Given the description of an element on the screen output the (x, y) to click on. 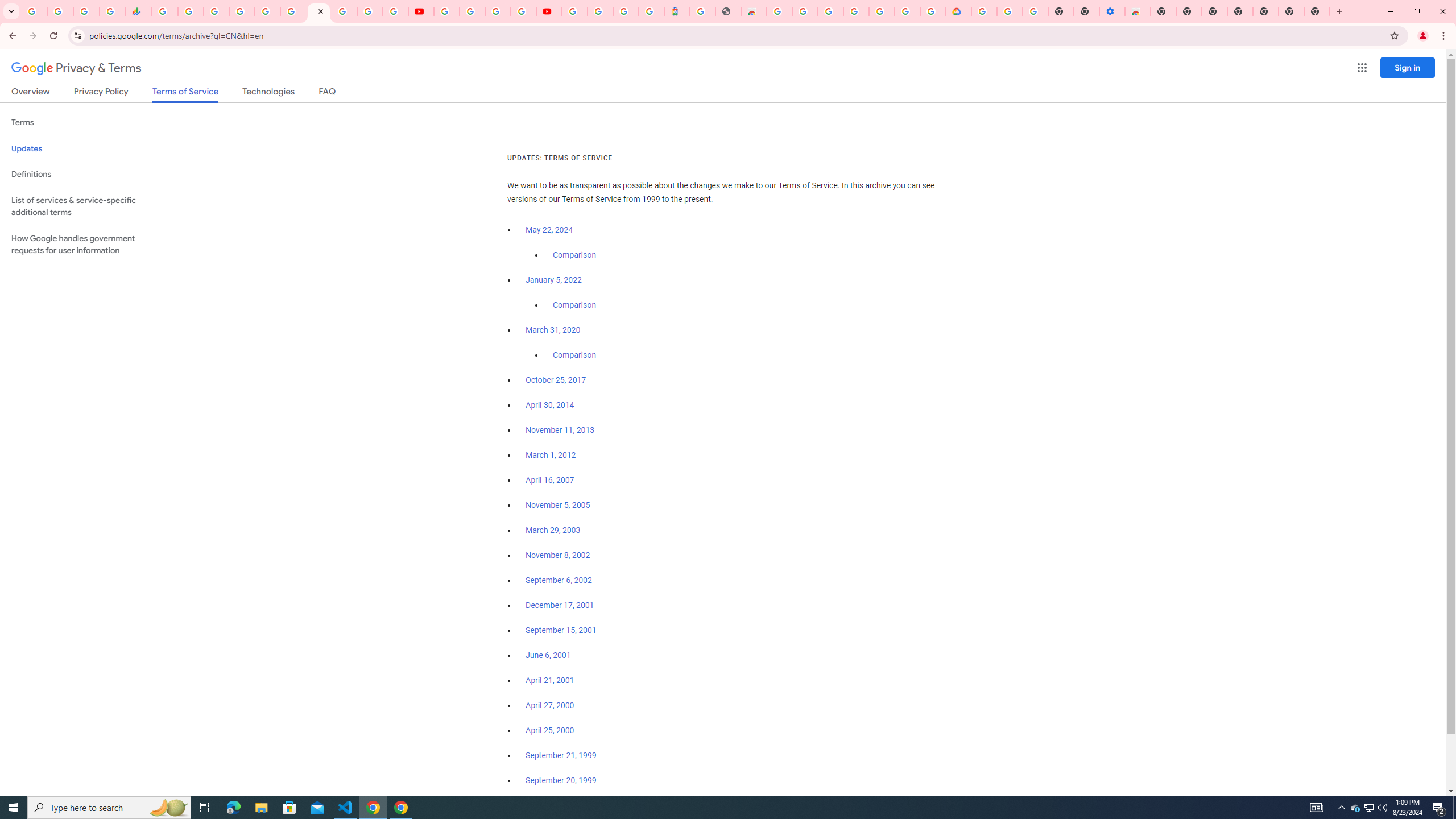
How Google handles government requests for user information (86, 244)
YouTube (446, 11)
Sign in - Google Accounts (830, 11)
